Given the description of an element on the screen output the (x, y) to click on. 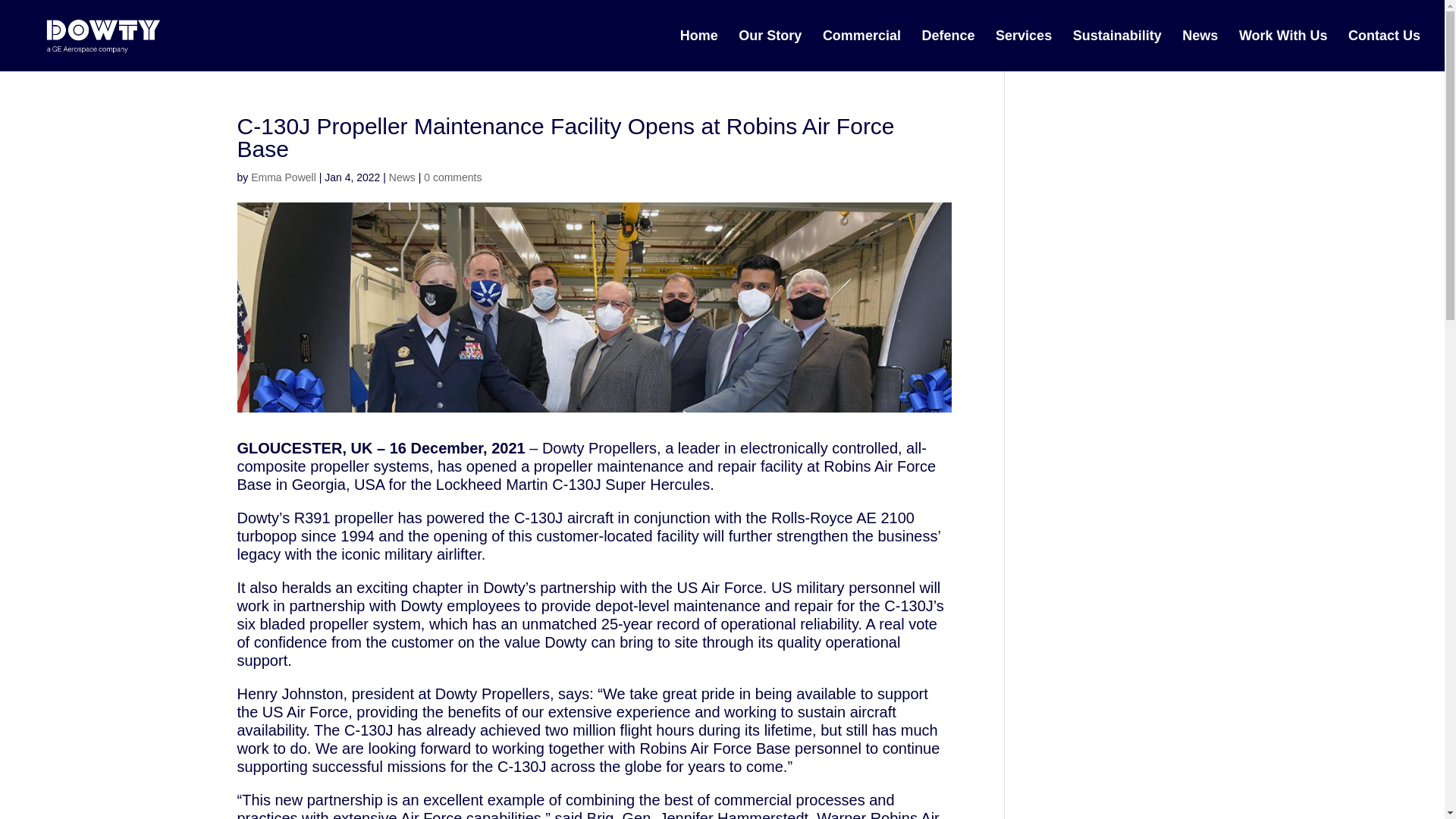
Services (1023, 50)
Defence (947, 50)
Posts by Emma Powell (282, 177)
Contact Us (1384, 50)
Home (698, 50)
News (401, 177)
Work With Us (1283, 50)
0 comments (452, 177)
Sustainability (1117, 50)
Commercial (861, 50)
Emma Powell (282, 177)
Our Story (770, 50)
